Given the description of an element on the screen output the (x, y) to click on. 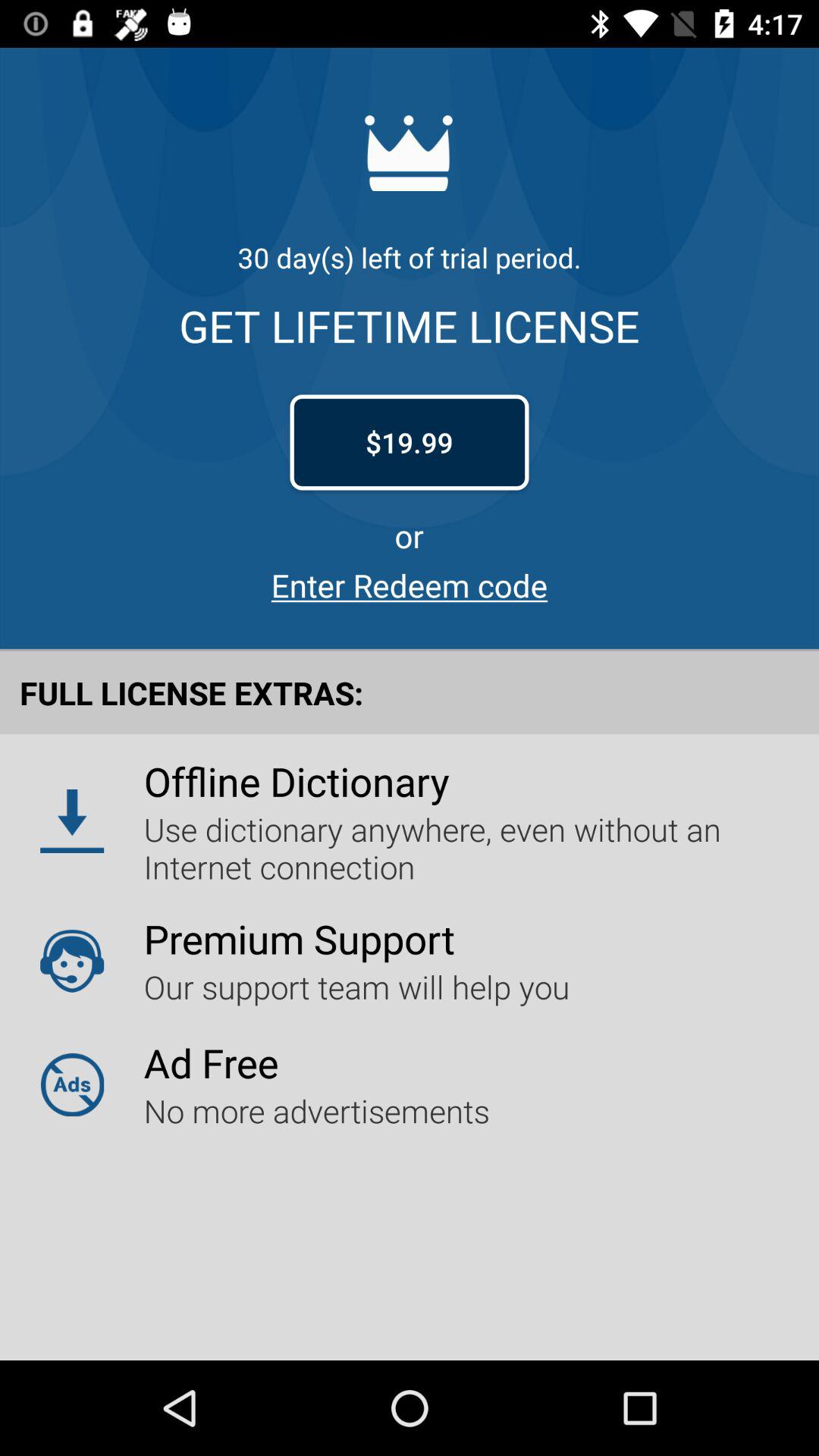
launch icon above or item (409, 442)
